Given the description of an element on the screen output the (x, y) to click on. 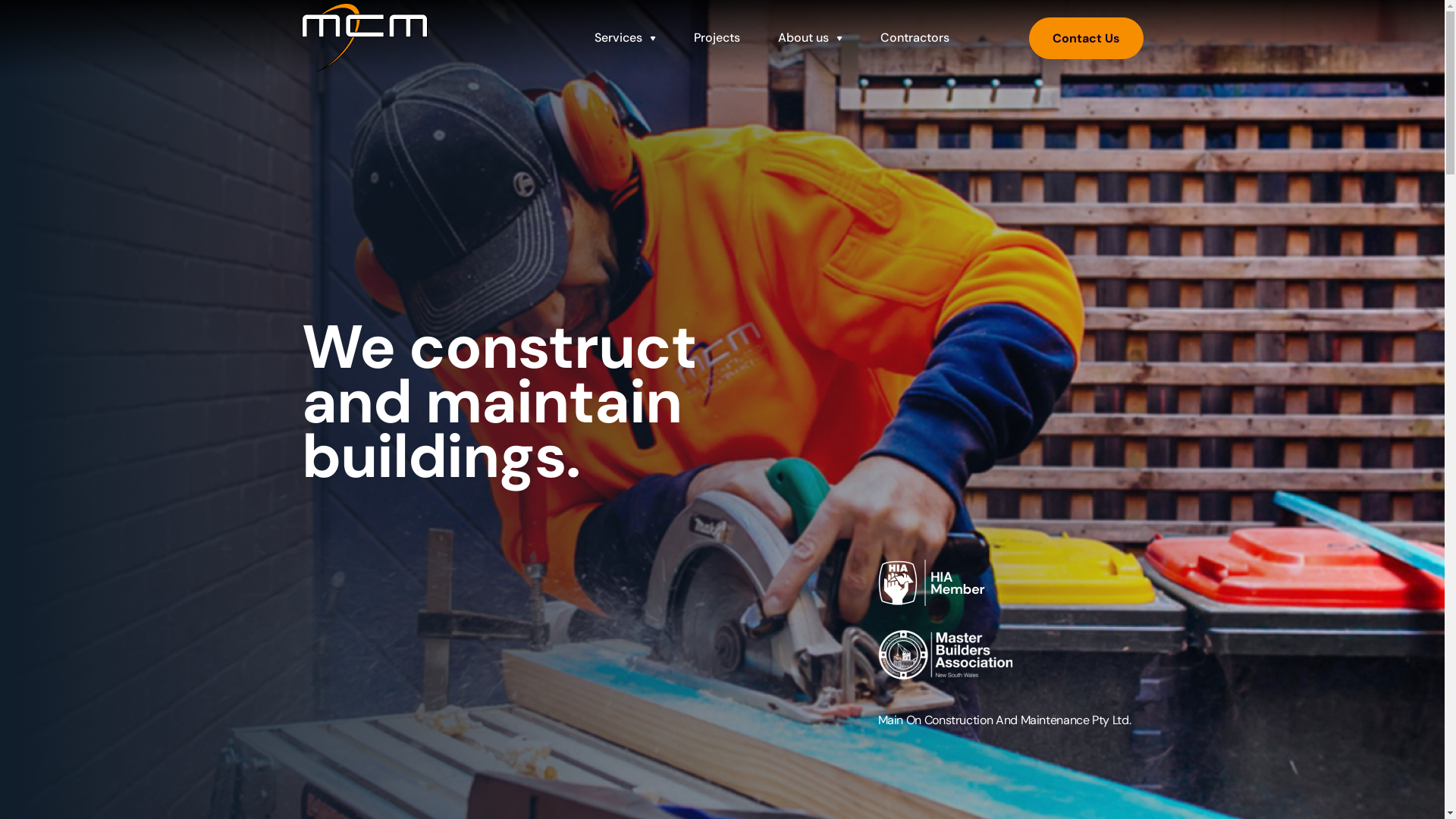
Contact Us Element type: text (1085, 37)
Projects Element type: text (716, 37)
Contractors Element type: text (914, 37)
About us Element type: text (810, 37)
Services Element type: text (624, 37)
